Given the description of an element on the screen output the (x, y) to click on. 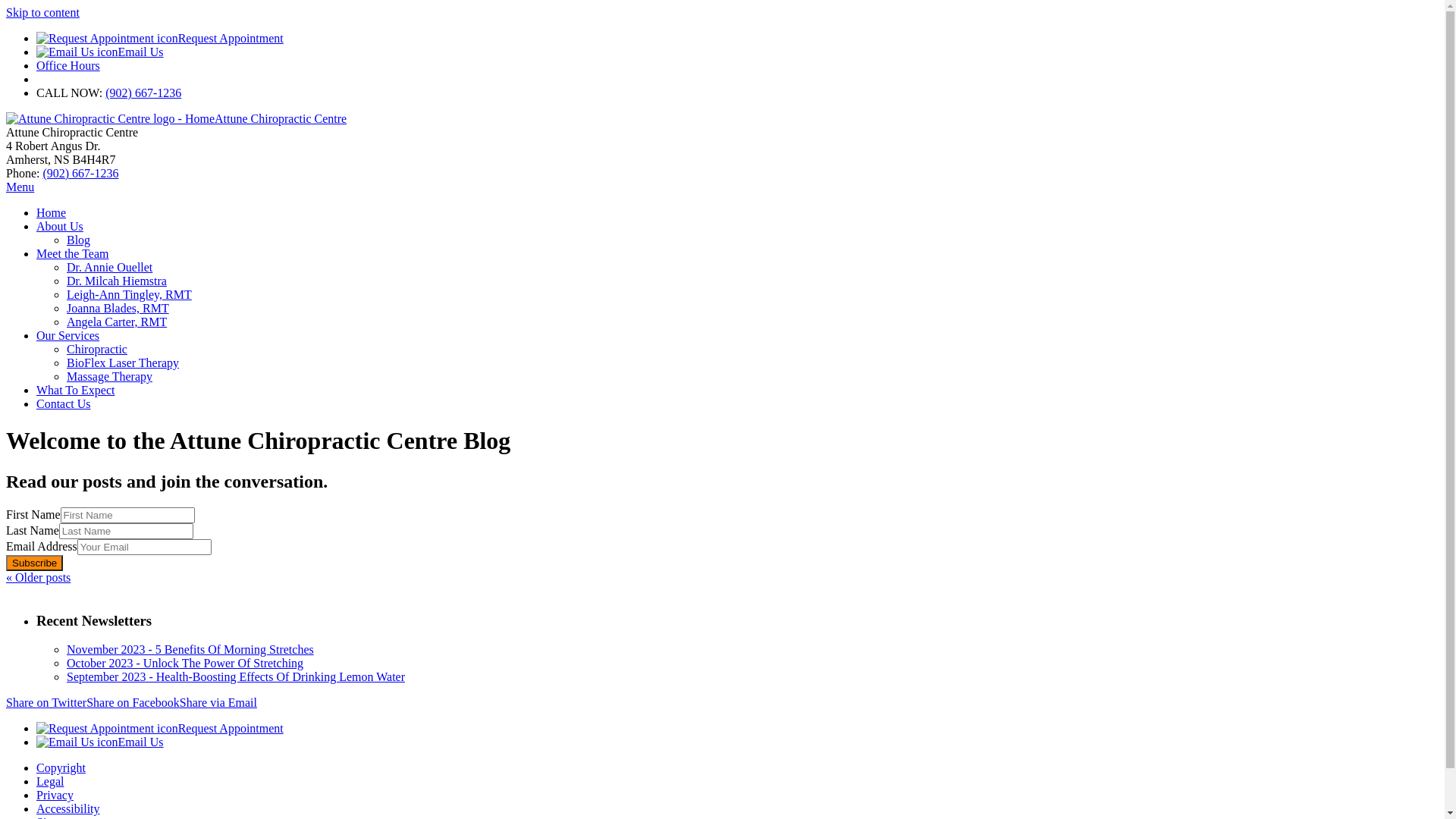
Skip to content Element type: text (42, 12)
Contact Us Element type: text (63, 403)
(902) 667-1236 Element type: text (80, 172)
Dr. Milcah Hiemstra Element type: text (116, 280)
BioFlex Laser Therapy Element type: text (122, 362)
Joanna Blades, RMT Element type: text (117, 307)
November 2023 - 5 Benefits Of Morning Stretches Element type: text (189, 649)
Leigh-Ann Tingley, RMT Element type: text (128, 294)
Office Hours Element type: text (68, 65)
Angela Carter, RMT Element type: text (116, 321)
Email Us Element type: text (99, 51)
Home Element type: text (50, 212)
Chiropractic Element type: text (96, 348)
Share on Twitter Element type: text (46, 702)
Massage Therapy Element type: text (109, 376)
Accessibility Element type: text (68, 808)
Blog Element type: text (78, 239)
Share on Facebook Element type: text (132, 702)
Our Services Element type: text (67, 335)
What To Expect Element type: text (75, 389)
Subscribe Element type: text (34, 563)
Attune Chiropractic Centre Element type: text (176, 118)
Copyright Element type: text (60, 767)
Request Appointment Element type: text (159, 37)
October 2023 - Unlock The Power Of Stretching Element type: text (184, 662)
Request Appointment Element type: text (159, 727)
Legal Element type: text (49, 781)
Share via Email Element type: text (218, 702)
About Us Element type: text (59, 225)
Email Us Element type: text (99, 741)
Meet the Team Element type: text (72, 253)
Privacy Element type: text (54, 794)
(902) 667-1236 Element type: text (143, 92)
Dr. Annie Ouellet Element type: text (109, 266)
Menu Element type: text (20, 186)
